Given the description of an element on the screen output the (x, y) to click on. 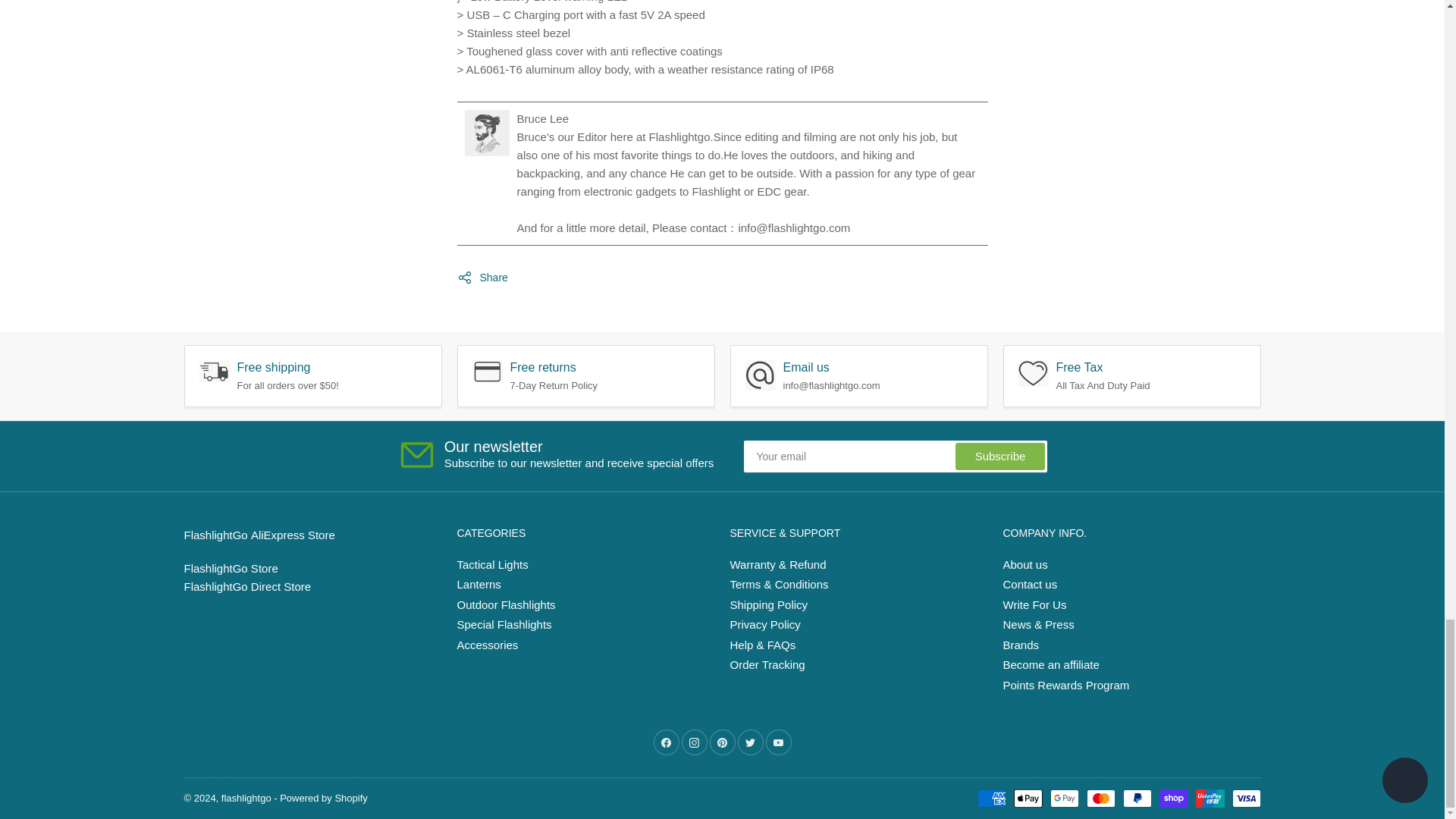
Apple Pay (1027, 798)
American Express (991, 798)
Google Pay (1063, 798)
